Given the description of an element on the screen output the (x, y) to click on. 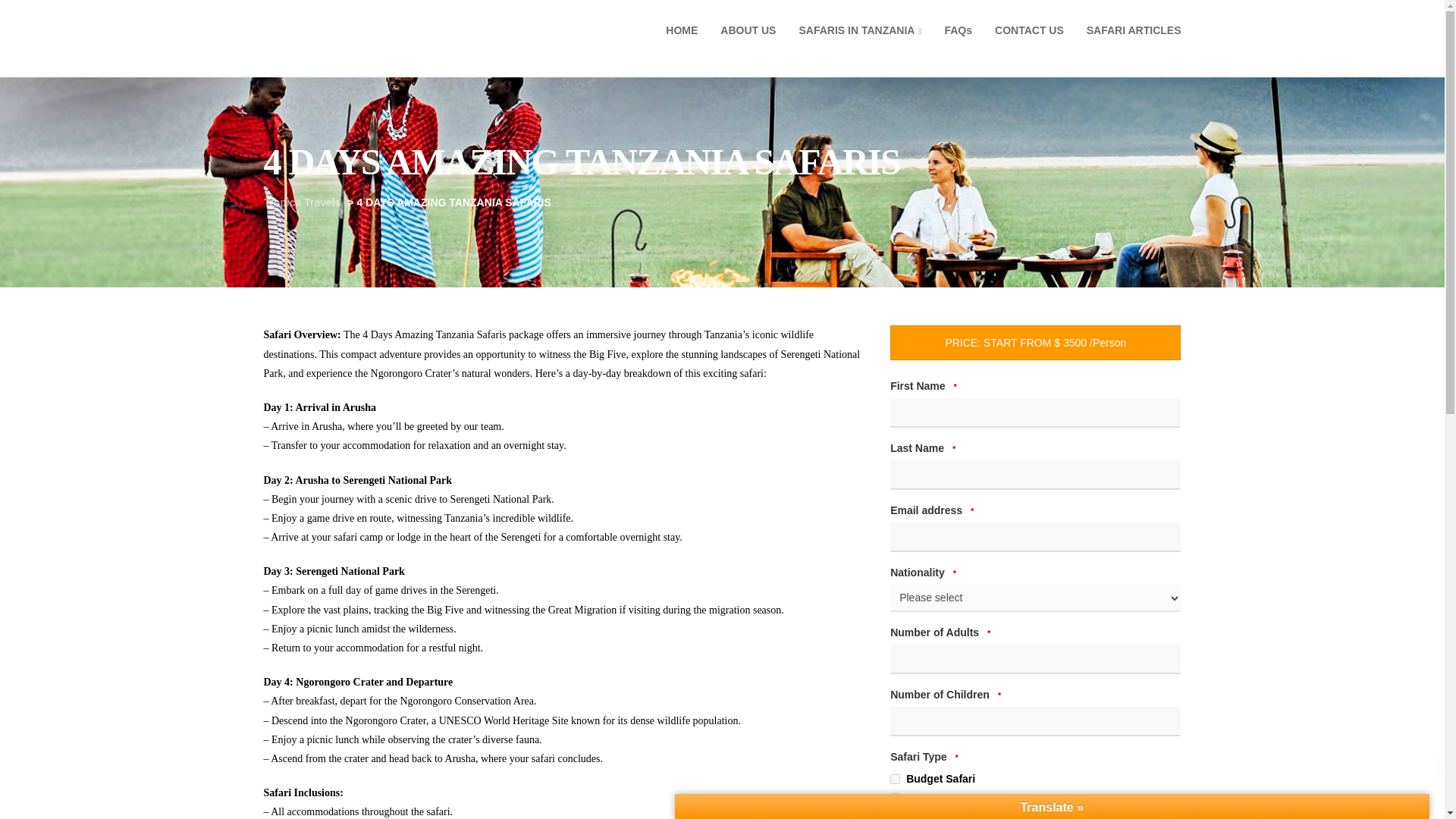
HOME (681, 29)
SAFARI ARTICLES (1133, 29)
SAFARIS IN TANZANIA (860, 29)
Mid Range Safari (894, 798)
SAFARI ARTICLES (1133, 29)
ABOUT US (748, 29)
HOME (681, 29)
CONTACT US (1029, 29)
Tropica Travels (301, 202)
Budget Safari (894, 778)
